Given the description of an element on the screen output the (x, y) to click on. 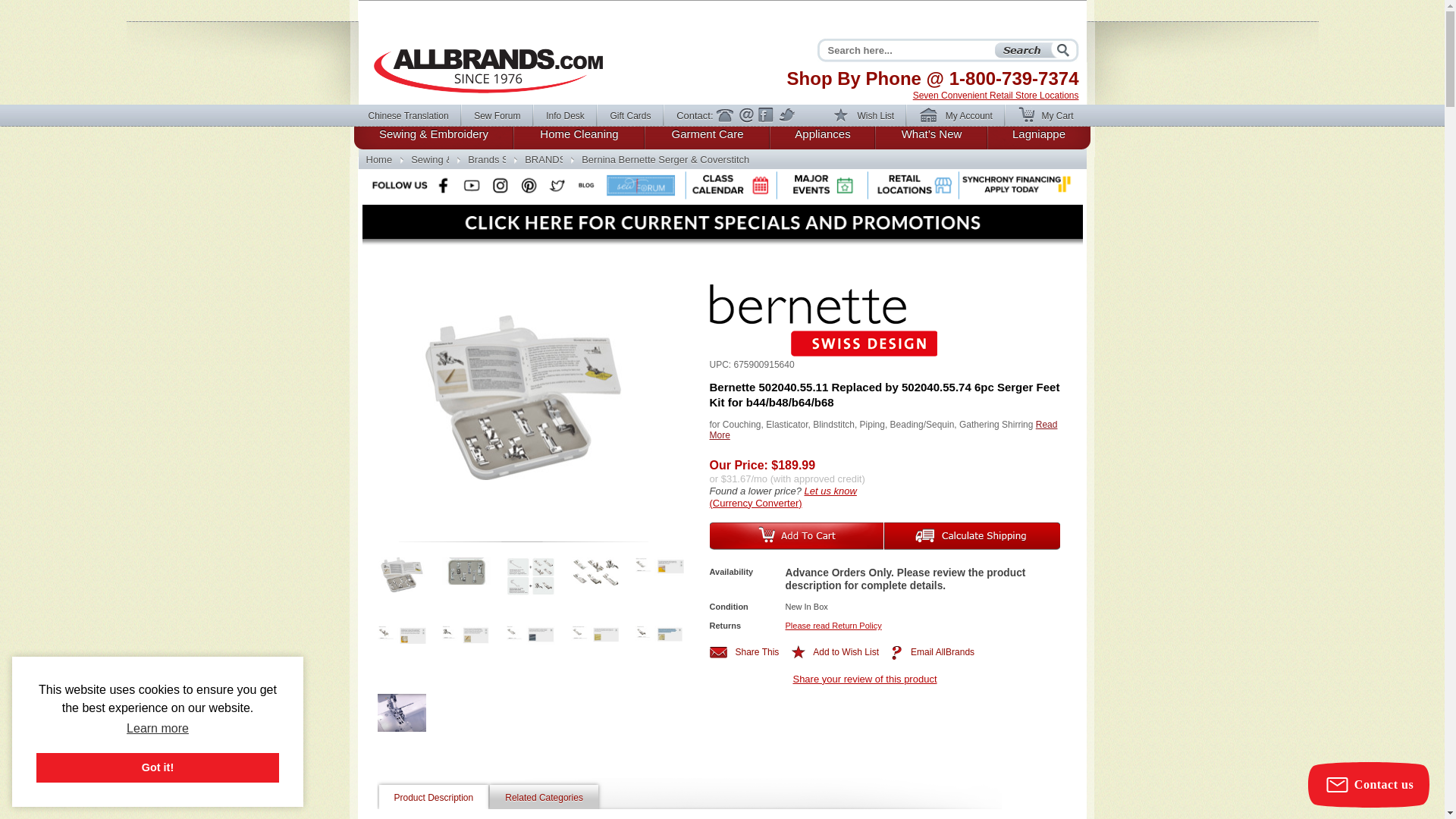
My Account (963, 117)
Learn more (156, 728)
Search (1032, 50)
Email (746, 115)
Chinese Translation (414, 115)
AllBrands.com (378, 159)
Search (1032, 50)
Wish List (870, 117)
Seven Convenient Retail Store Locations (995, 95)
Gift Cards (636, 115)
Wish List (870, 117)
Facebook (766, 115)
